Given the description of an element on the screen output the (x, y) to click on. 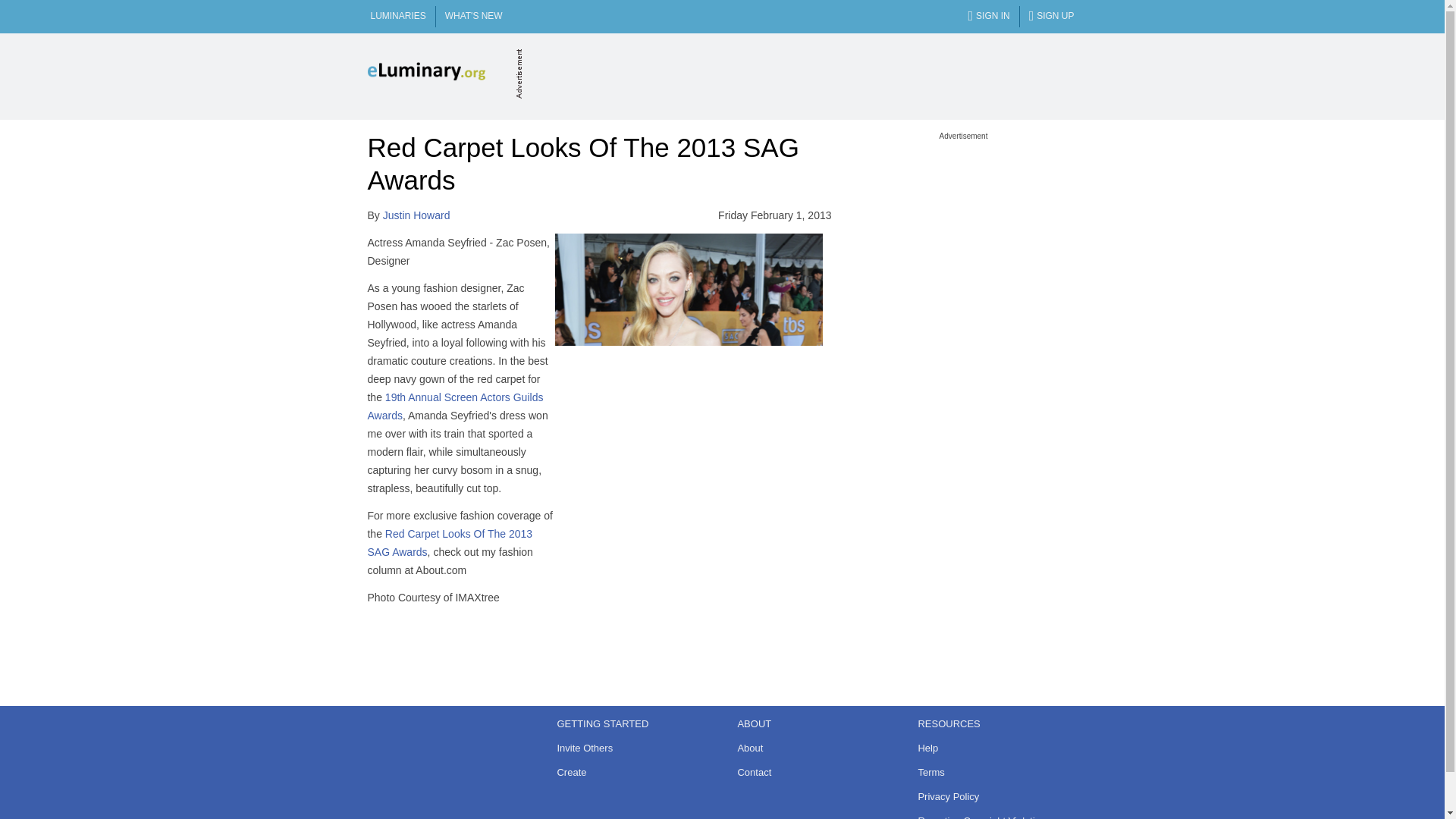
Luminaries (397, 16)
Sign Up (1051, 16)
What's New (473, 16)
Help (992, 748)
Privacy Policy (992, 796)
Red Carpet Looks Of The 2013 SAG Awards (449, 542)
Reporting Copyright Violations (992, 815)
SIGN UP (1051, 16)
WHAT'S NEW (473, 16)
Contact (811, 772)
